Given the description of an element on the screen output the (x, y) to click on. 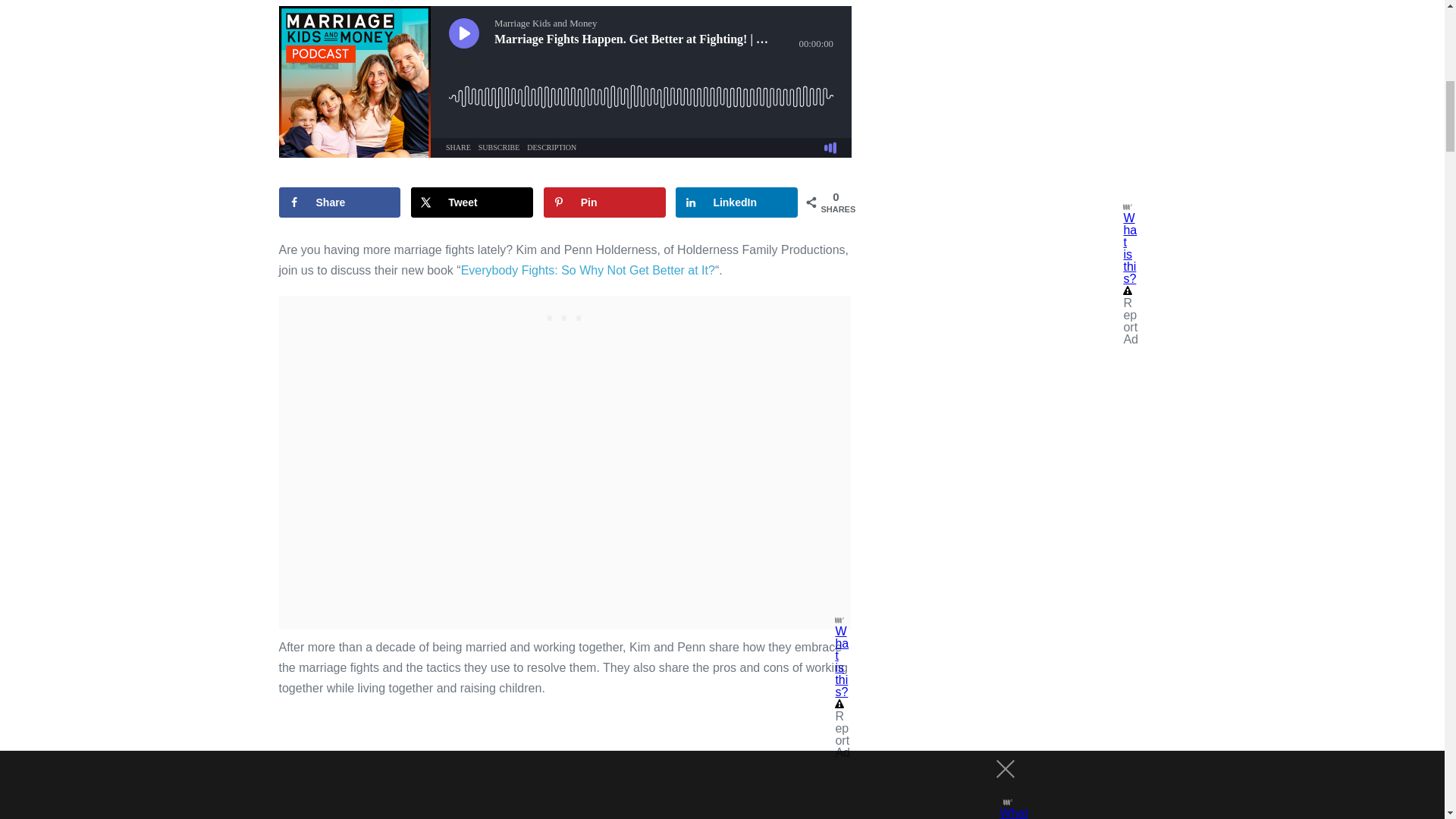
Save to Pinterest (604, 202)
Share on LinkedIn (736, 202)
Share on X (471, 202)
3rd party ad content (564, 314)
Share on Facebook (340, 202)
3rd party ad content (1024, 104)
